Given the description of an element on the screen output the (x, y) to click on. 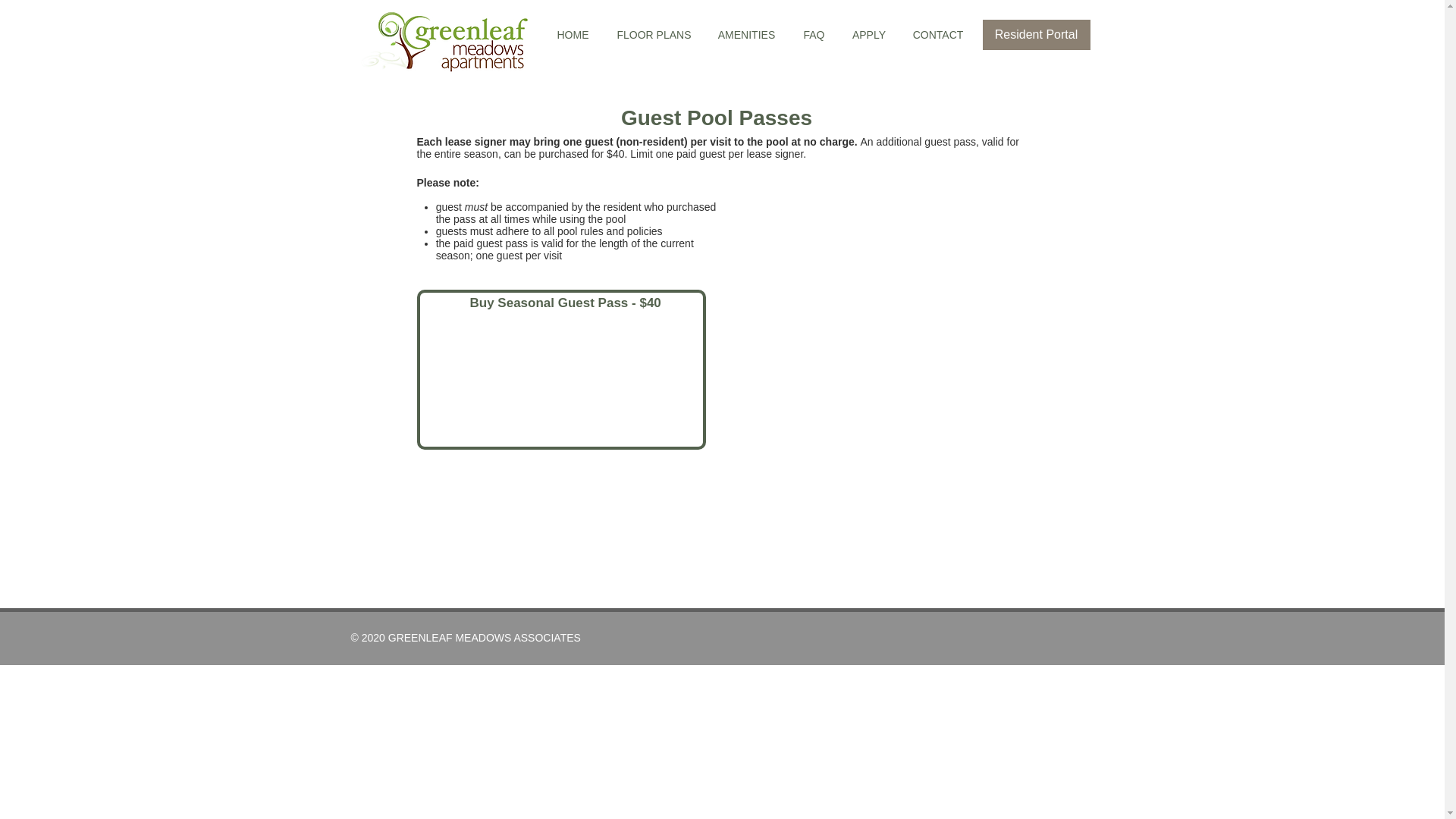
CONTACT (937, 34)
APPLY (868, 34)
HOME (572, 34)
AMENITIES (746, 34)
Resident Portal (1036, 34)
FAQ (813, 34)
